Given the description of an element on the screen output the (x, y) to click on. 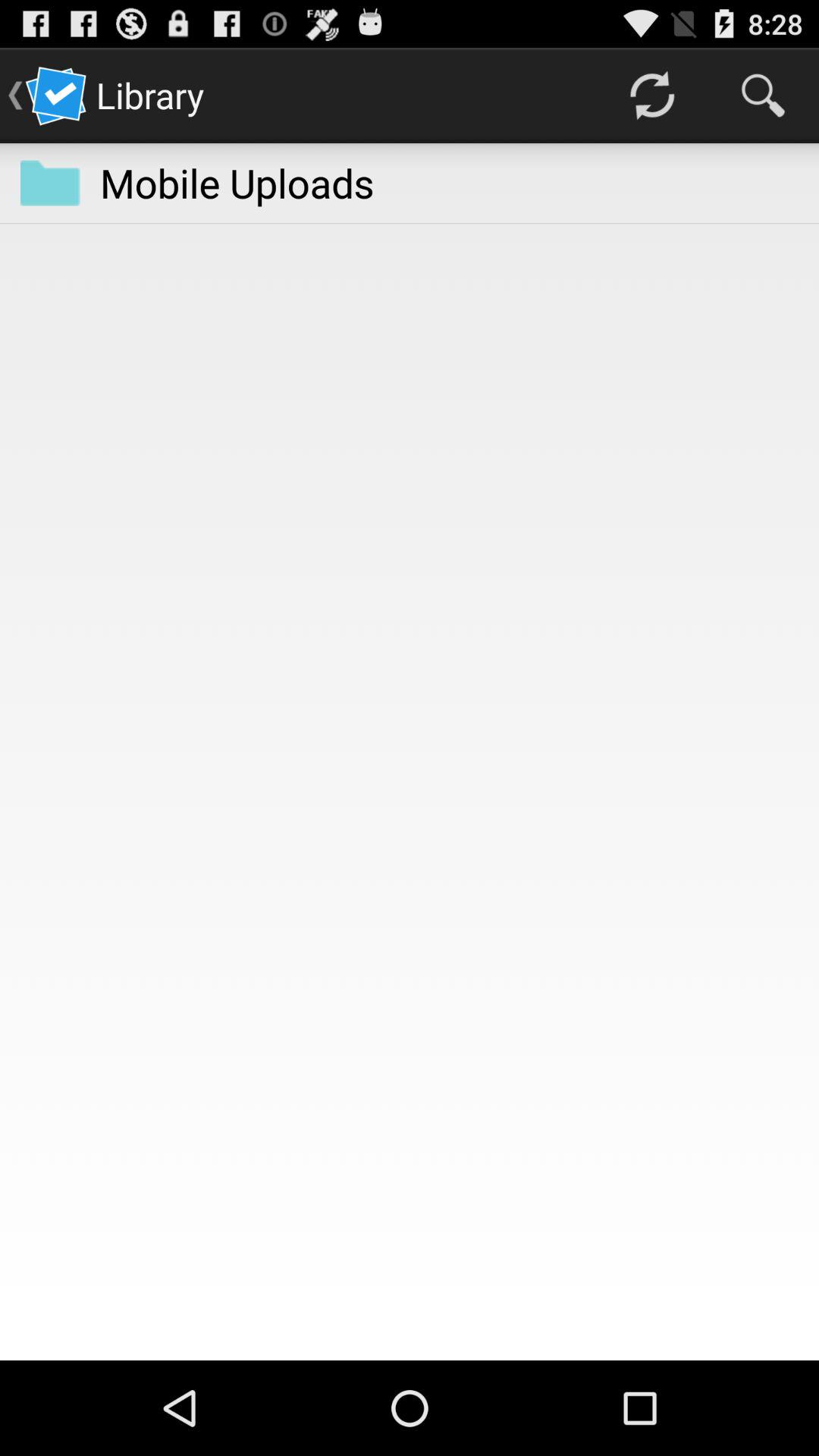
click the icon next to mobile uploads icon (651, 95)
